Given the description of an element on the screen output the (x, y) to click on. 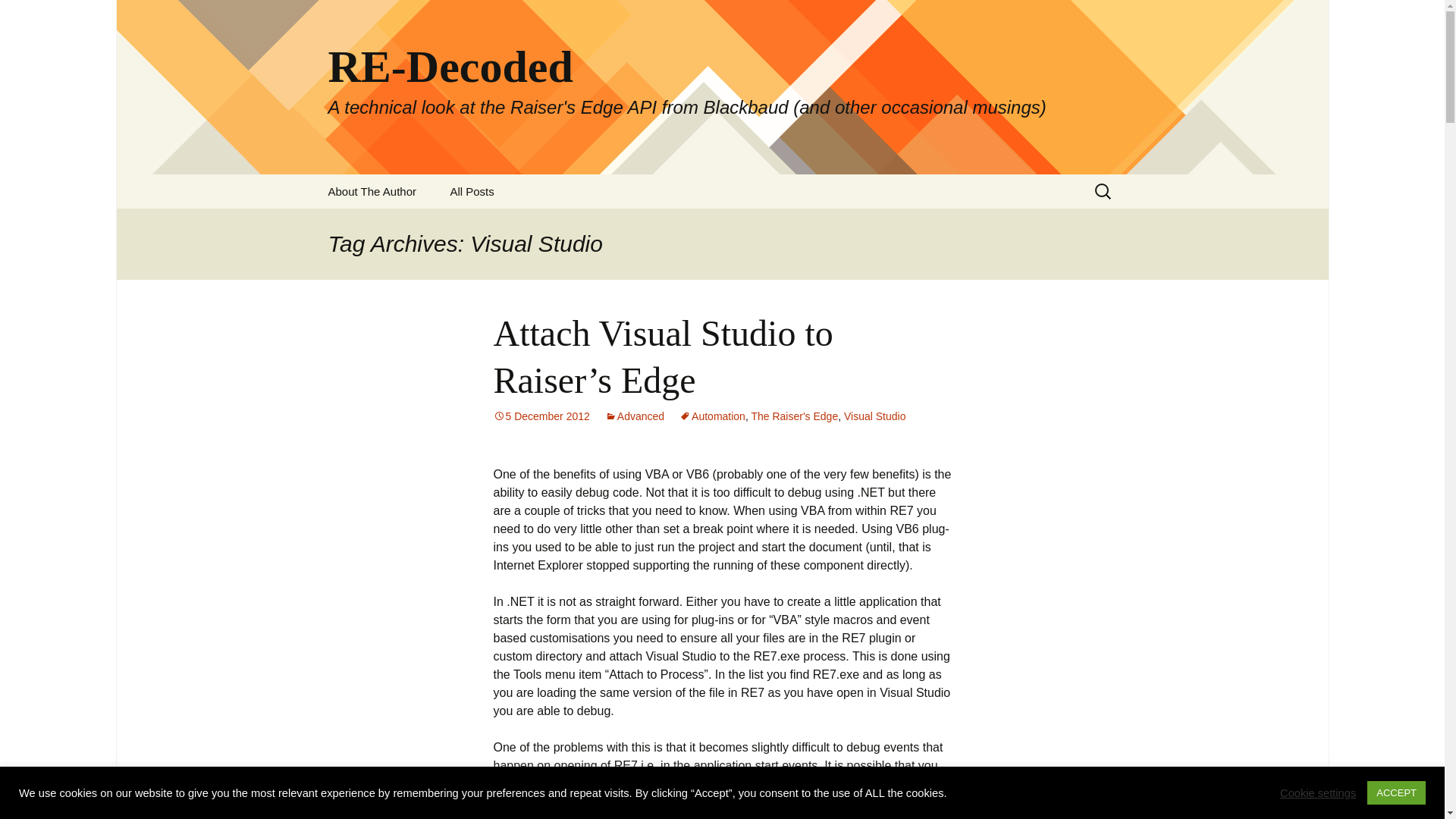
5 December 2012 (541, 416)
Advanced (634, 416)
About The Author (371, 191)
All Posts (470, 191)
Visual Studio (874, 416)
Automation (712, 416)
The Raiser's Edge (794, 416)
Search (18, 15)
